Given the description of an element on the screen output the (x, y) to click on. 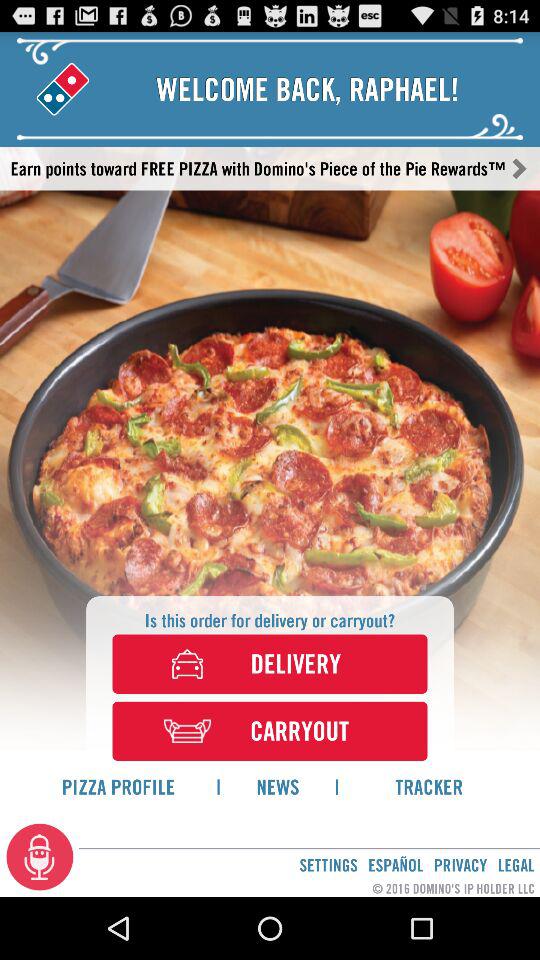
open app next to legal app (460, 864)
